Given the description of an element on the screen output the (x, y) to click on. 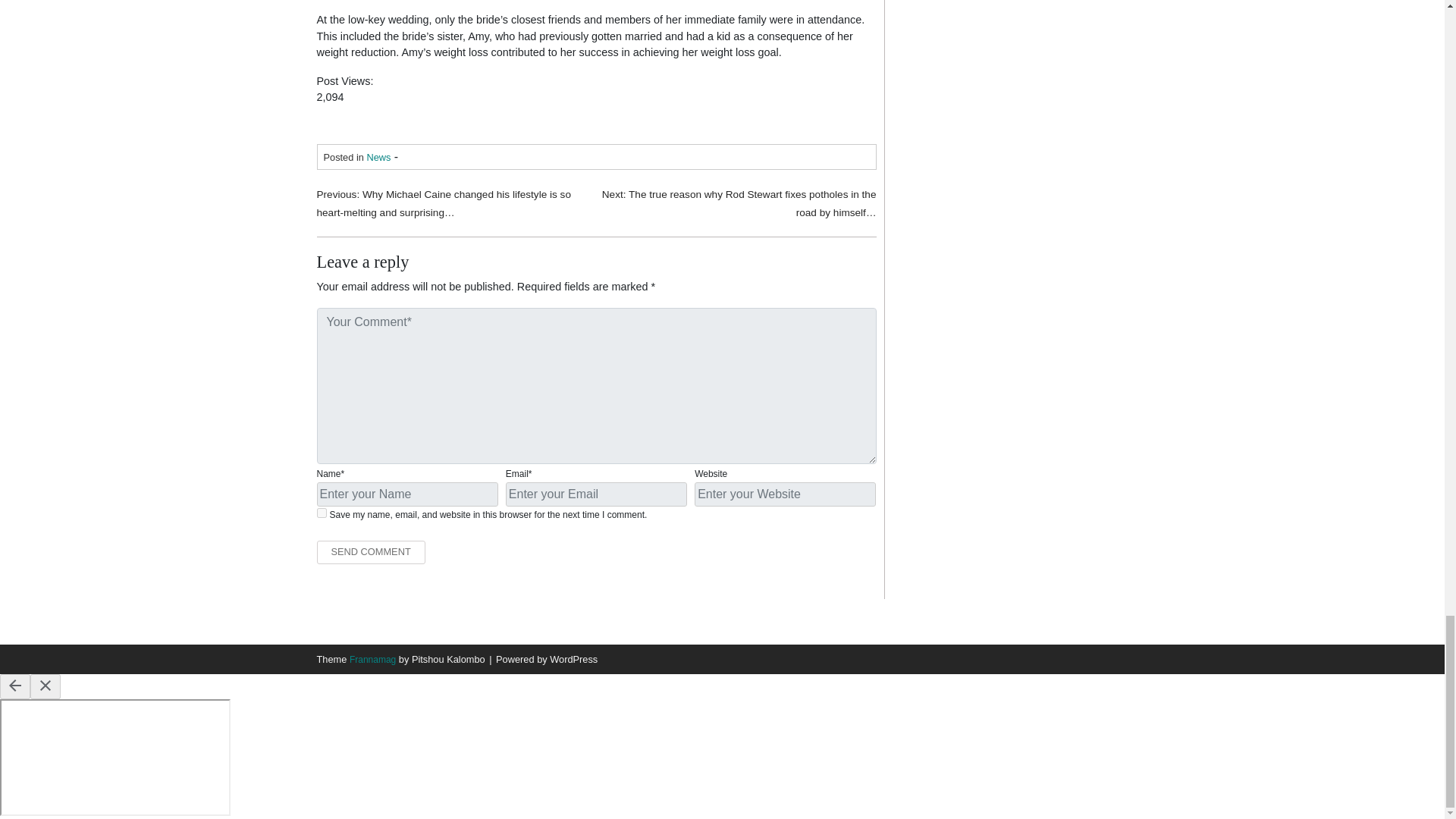
Send Comment (371, 552)
Send Comment (371, 552)
News (378, 156)
yes (321, 512)
Frannamag (372, 659)
